Given the description of an element on the screen output the (x, y) to click on. 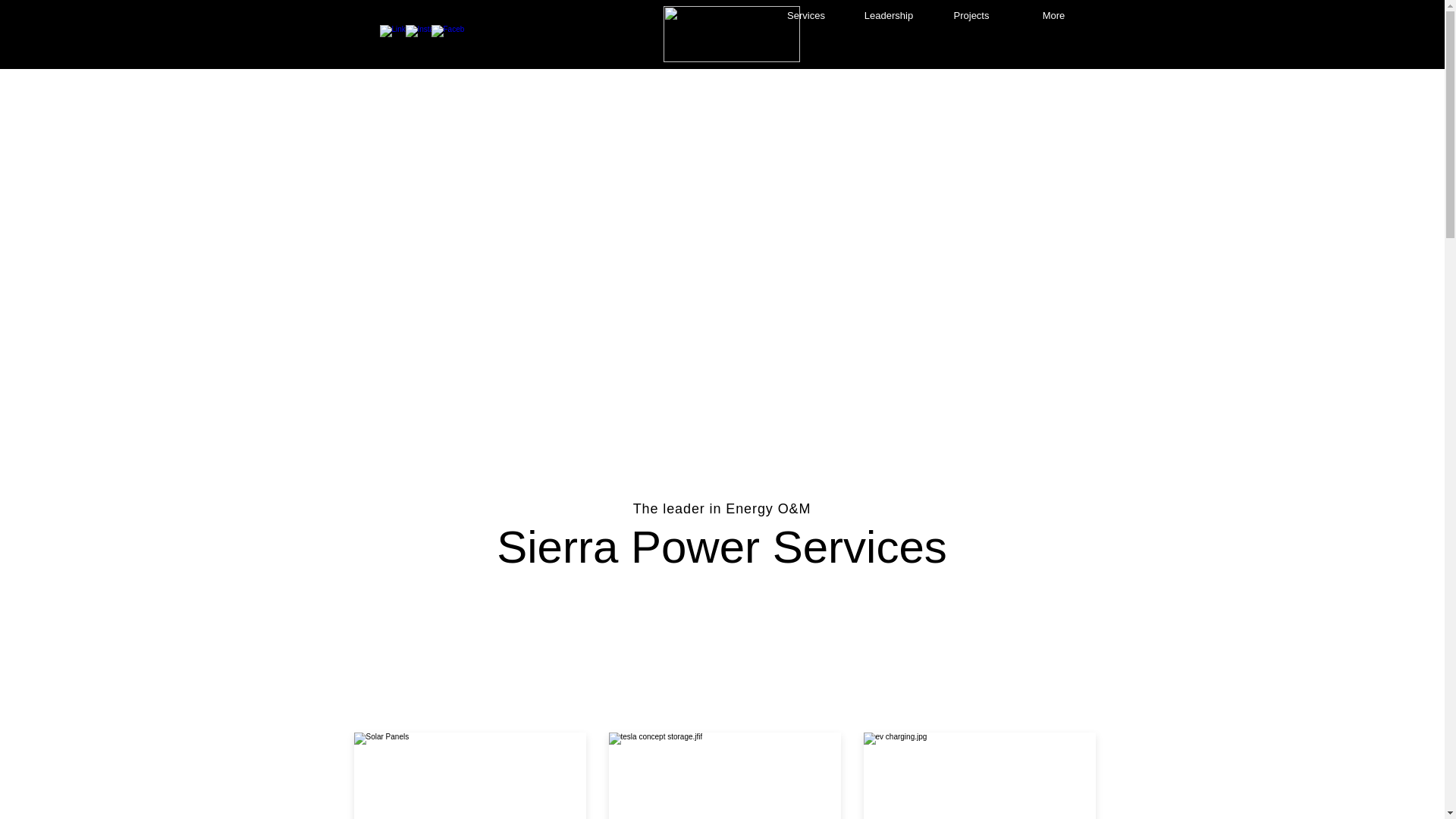
Projects (970, 15)
Residential (895, 61)
Leadership (643, 61)
Projects (725, 61)
Leadership (888, 15)
Contact Us (807, 61)
Services (560, 61)
SPS White Layered Logo-01.png (730, 33)
Services (805, 15)
